Given the description of an element on the screen output the (x, y) to click on. 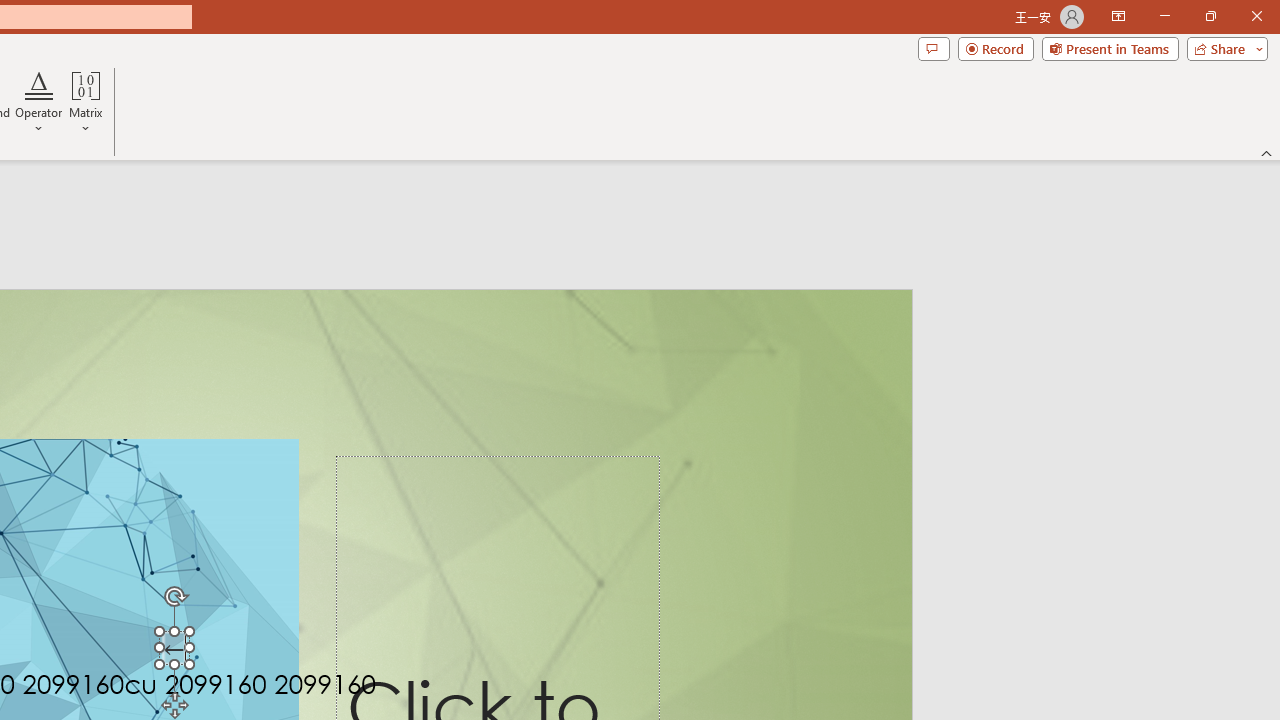
Operator (38, 102)
Matrix (86, 102)
